Given the description of an element on the screen output the (x, y) to click on. 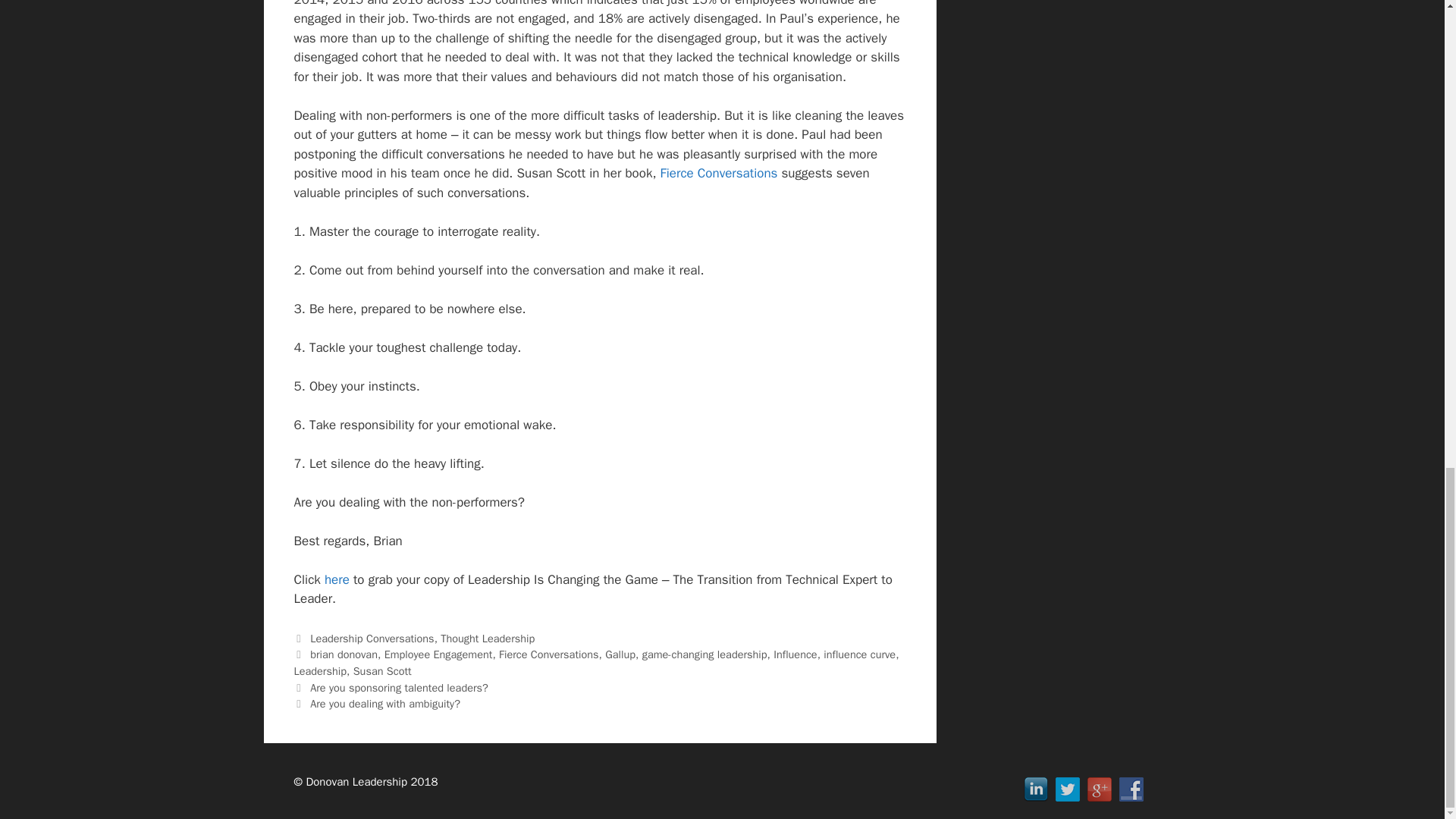
Employee Engagement (438, 653)
Are you dealing with ambiguity? (385, 703)
brian donovan (343, 653)
Thought Leadership (487, 638)
influence curve (859, 653)
Leadership (320, 671)
Follow Us on Twitter (1067, 789)
Fierce Conversations (719, 172)
Follow Us on LinkedIn (1035, 789)
Susan Scott (382, 671)
game-changing leadership (704, 653)
Gallup (619, 653)
Follow Us on Facebook (1130, 789)
Scroll back to top (1406, 440)
Are you sponsoring talented leaders? (398, 687)
